Given the description of an element on the screen output the (x, y) to click on. 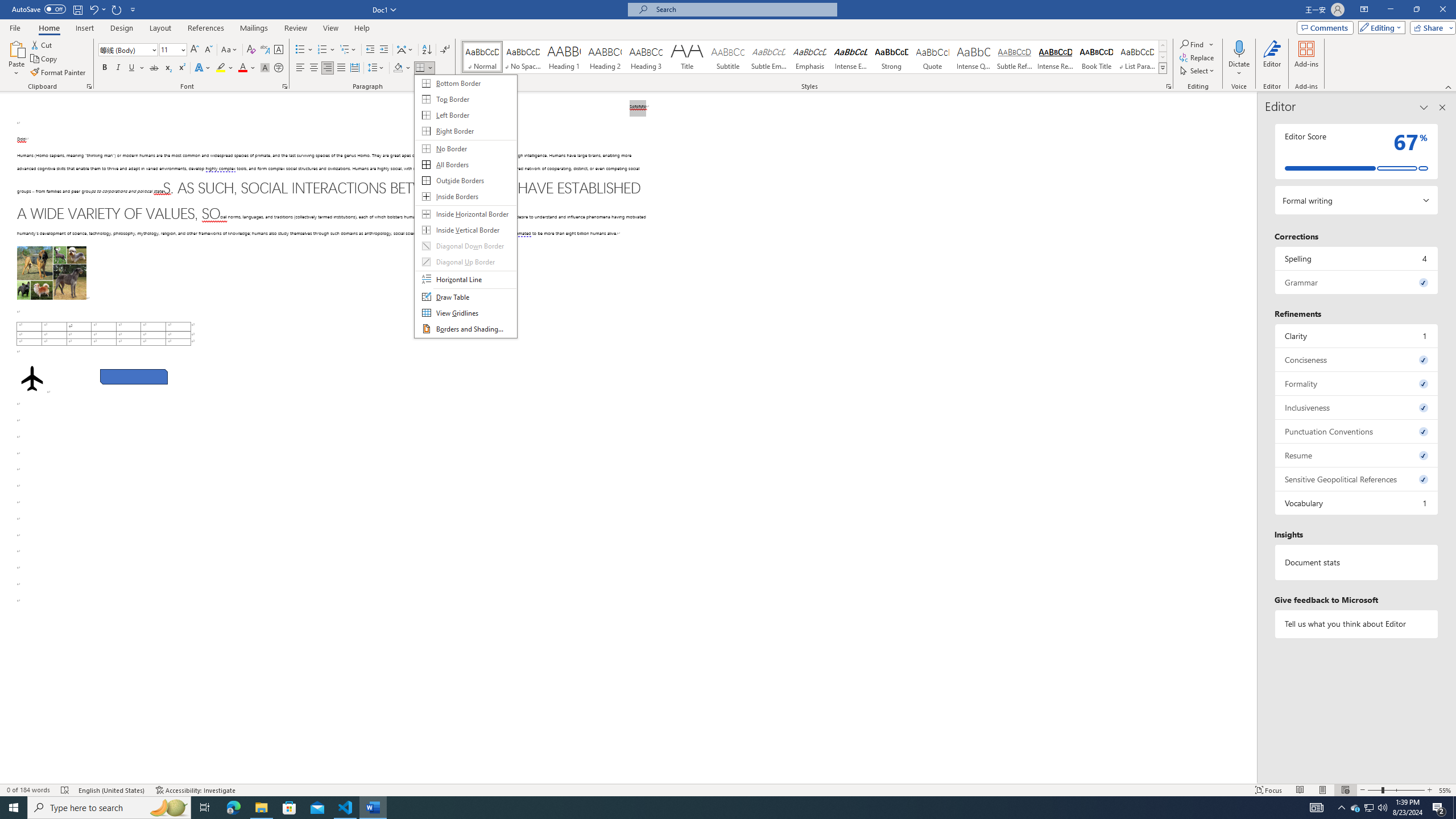
Start (13, 807)
Word - 1 running window (373, 807)
Word Count 0 of 184 words (28, 790)
Strong (891, 56)
Open (182, 49)
Customize Quick Access Toolbar (133, 9)
Cut (42, 44)
Spelling and Grammar Check Errors (65, 790)
Mailings (253, 28)
Text Highlight Color (224, 67)
Paste (16, 58)
Ribbon Display Options (1364, 9)
Enclose Characters... (278, 67)
